Given the description of an element on the screen output the (x, y) to click on. 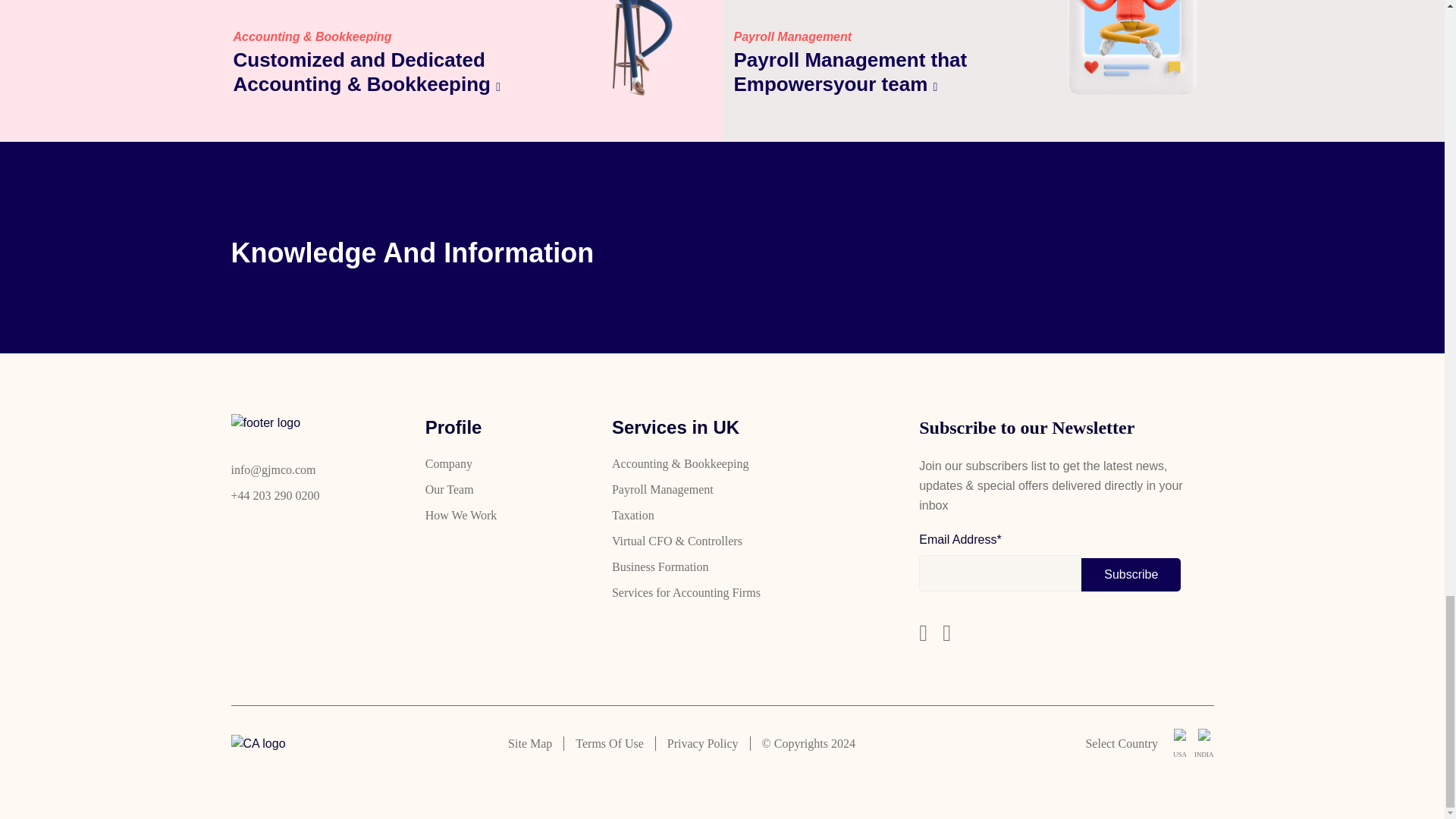
Services for Accounting Firms (685, 592)
Our Team (449, 489)
Payroll Management that Empowersyour team (889, 71)
How We Work (461, 514)
Business Formation (660, 566)
Payroll Management (662, 489)
Company (448, 463)
Taxation (632, 514)
